Given the description of an element on the screen output the (x, y) to click on. 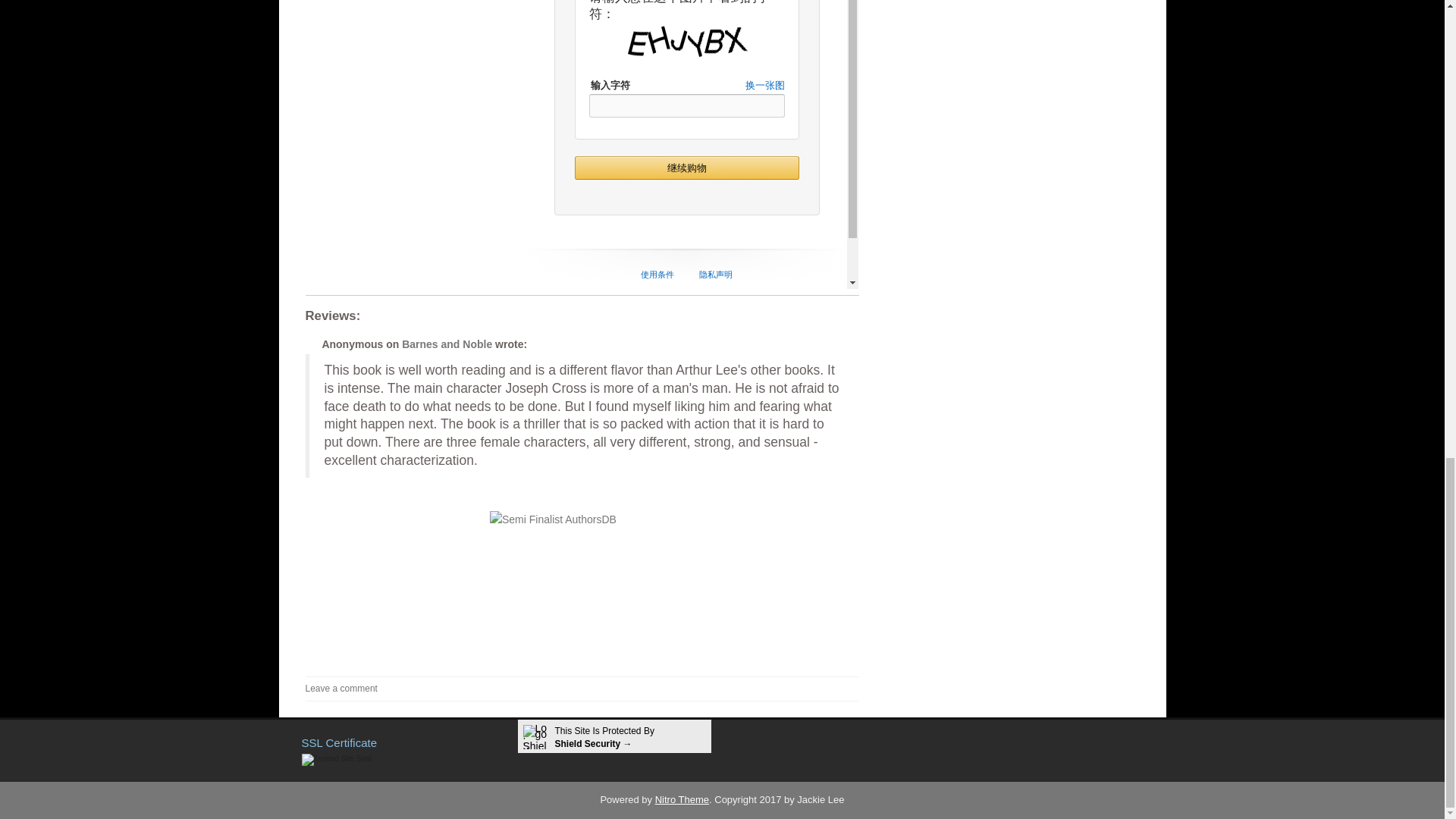
Semi Finalist (581, 578)
Shield Security (614, 737)
Trusted Site Seal for Transparent background (336, 759)
